Given the description of an element on the screen output the (x, y) to click on. 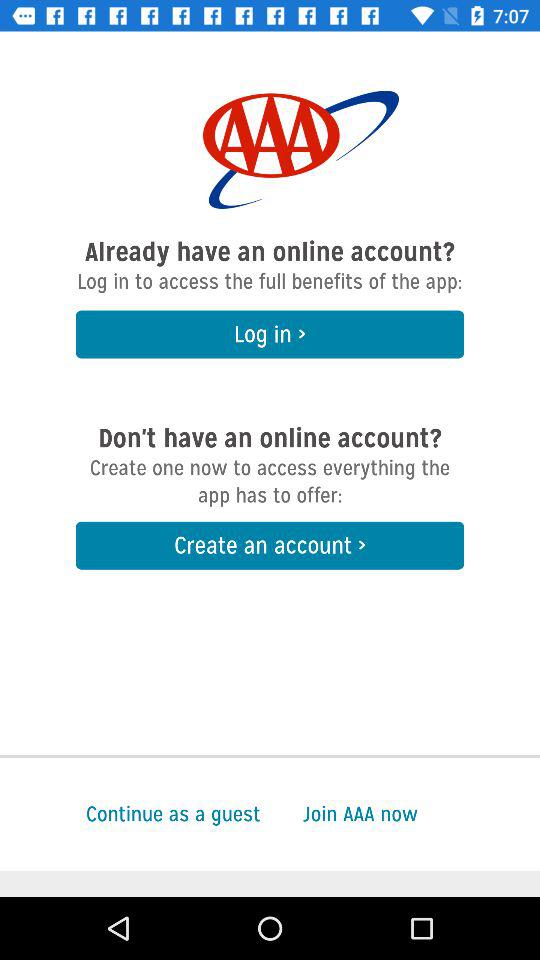
select the join aaa now at the bottom right corner (421, 814)
